Given the description of an element on the screen output the (x, y) to click on. 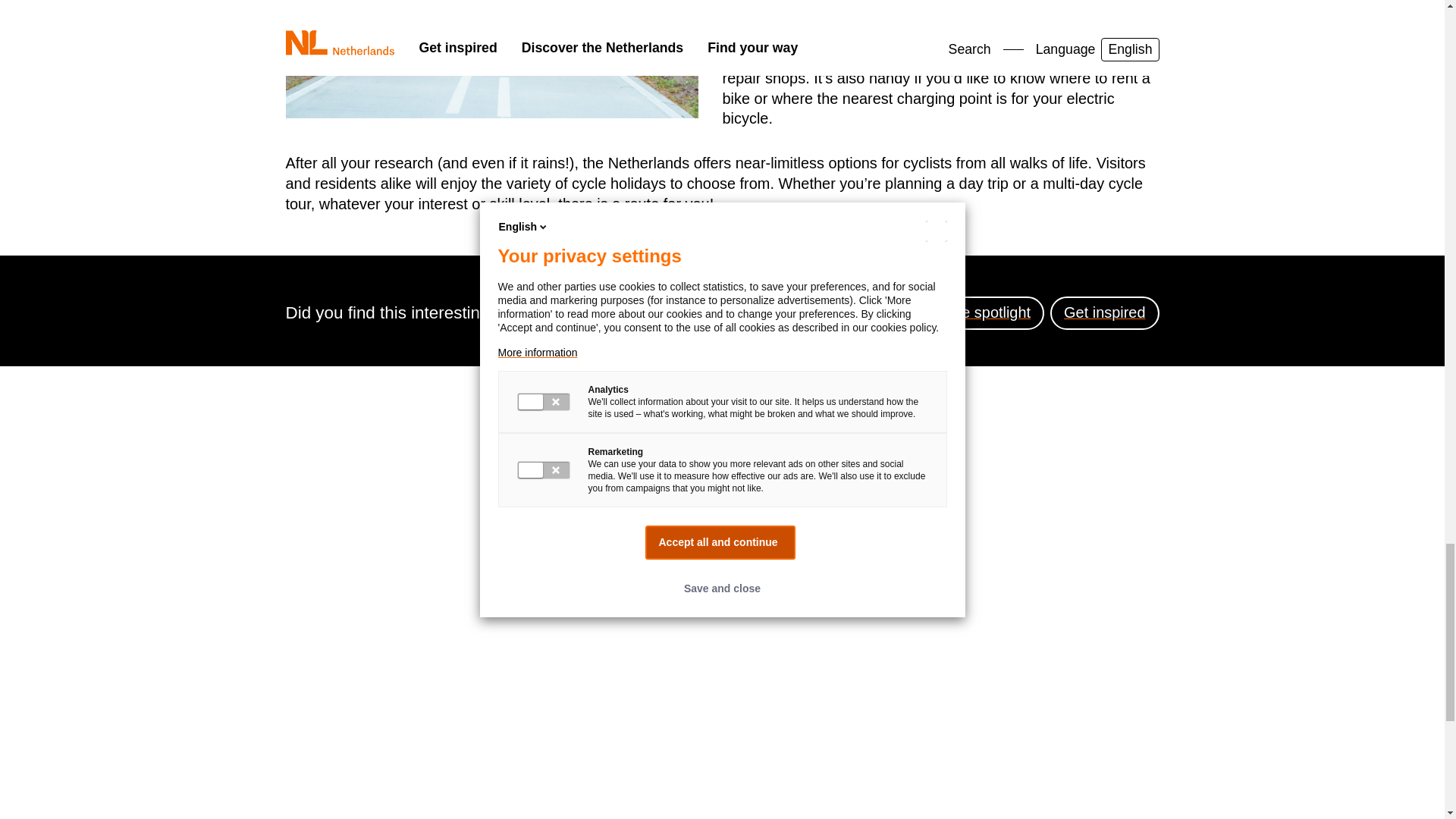
Cyclists on smooth wide bike path (491, 58)
In the spotlight (980, 313)
Cycling Lifestyle (844, 313)
Get inspired (1103, 313)
